Given the description of an element on the screen output the (x, y) to click on. 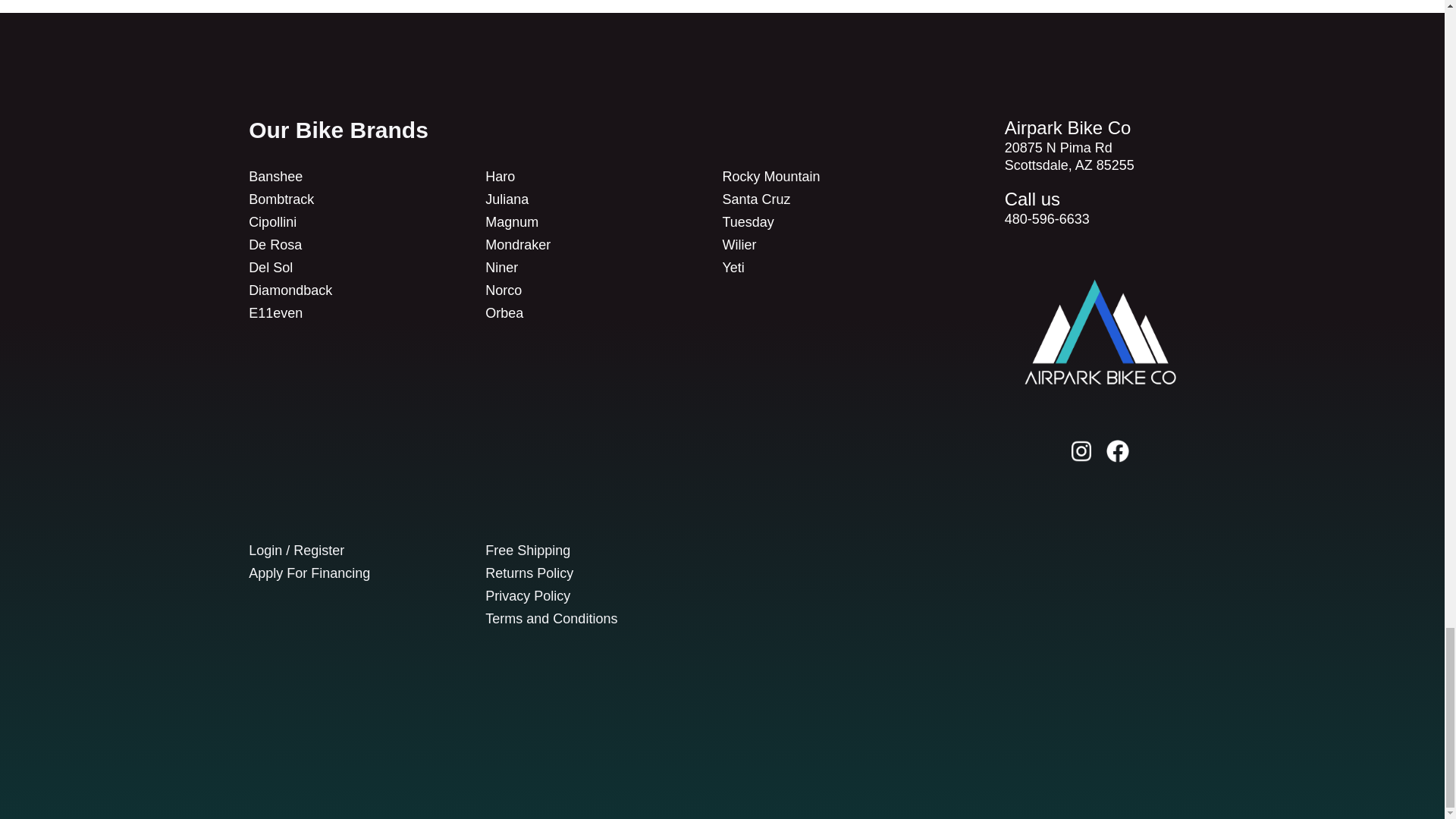
Go Home (1099, 331)
